Given the description of an element on the screen output the (x, y) to click on. 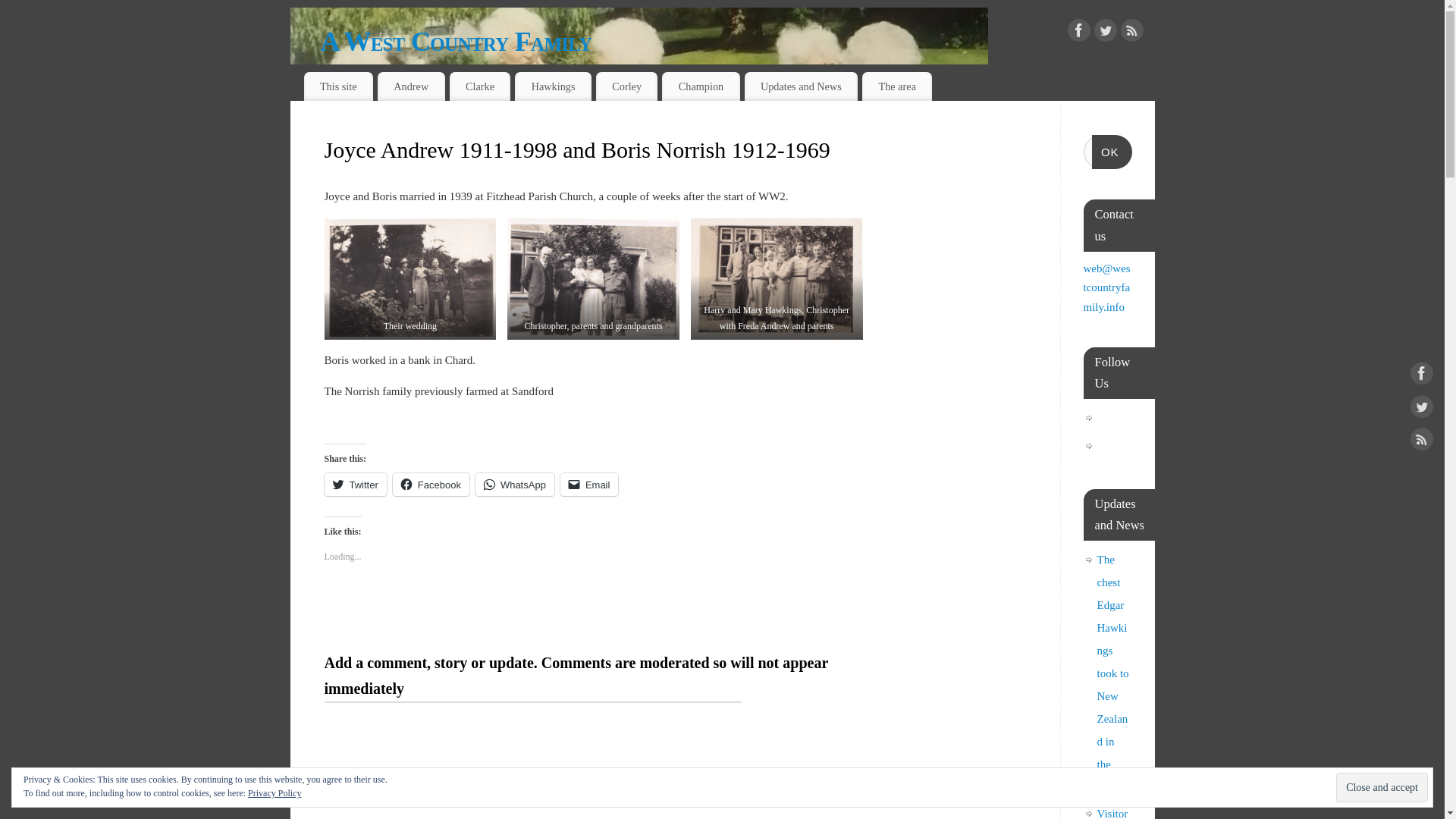
Click to share on WhatsApp (515, 484)
A West Country Family (737, 41)
A West Country Family (737, 41)
Hawkings (553, 86)
A West Country Family (638, 77)
This site (337, 86)
Andrew (411, 86)
Click to email a link to a friend (589, 484)
Click to share on Facebook (430, 484)
Clarke (480, 86)
